Given the description of an element on the screen output the (x, y) to click on. 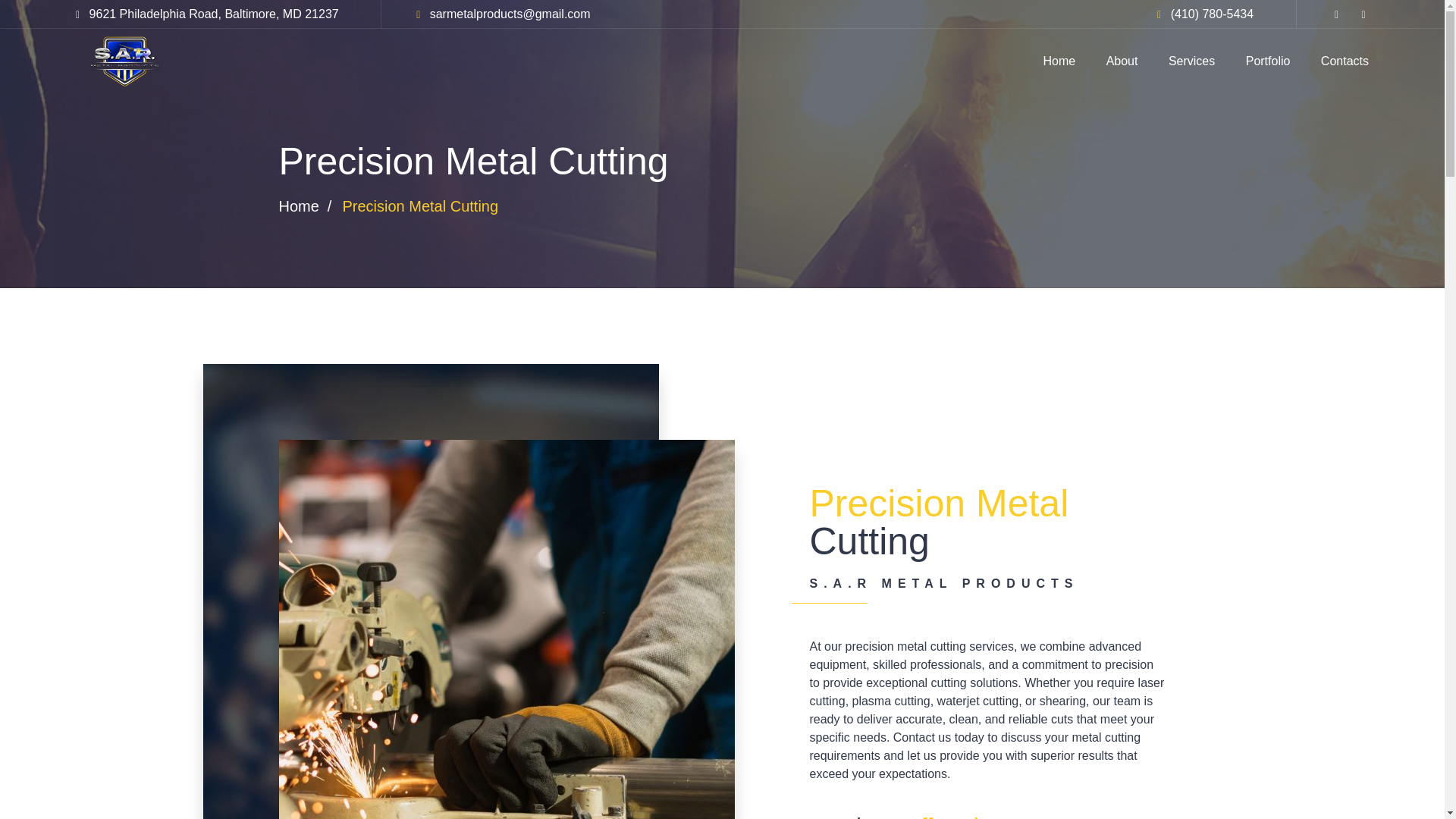
Contacts (1344, 61)
Portfolio (1268, 61)
Home (1058, 61)
Services (1191, 61)
About (1122, 61)
Home (298, 206)
